Given the description of an element on the screen output the (x, y) to click on. 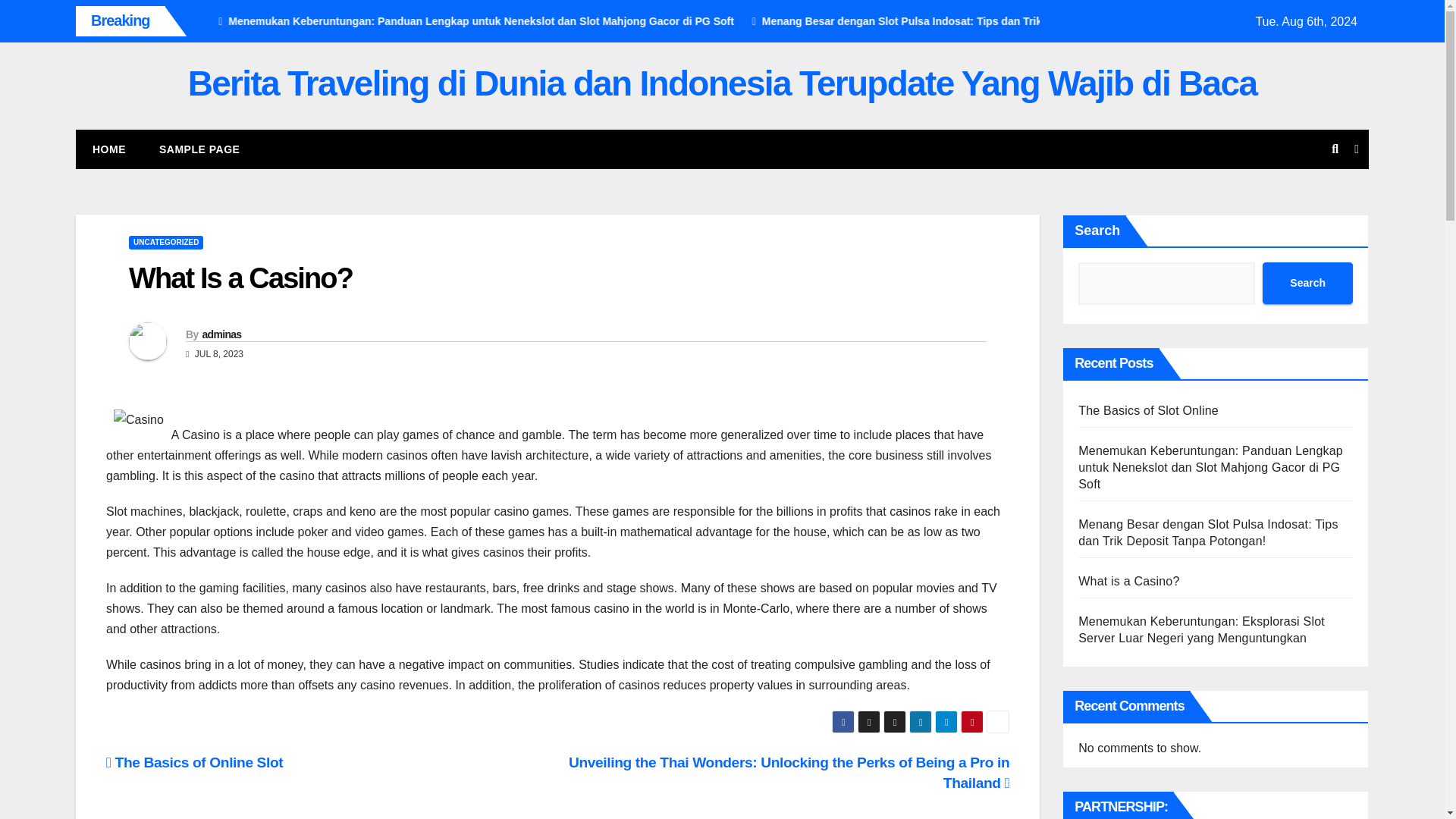
adminas (221, 334)
UNCATEGORIZED (166, 242)
The Basics of Slot Online (280, 21)
SAMPLE PAGE (199, 148)
Permalink to: What Is a Casino? (240, 278)
What Is a Casino? (240, 278)
HOME (108, 148)
Home (108, 148)
The Basics of Online Slot (194, 762)
